Given the description of an element on the screen output the (x, y) to click on. 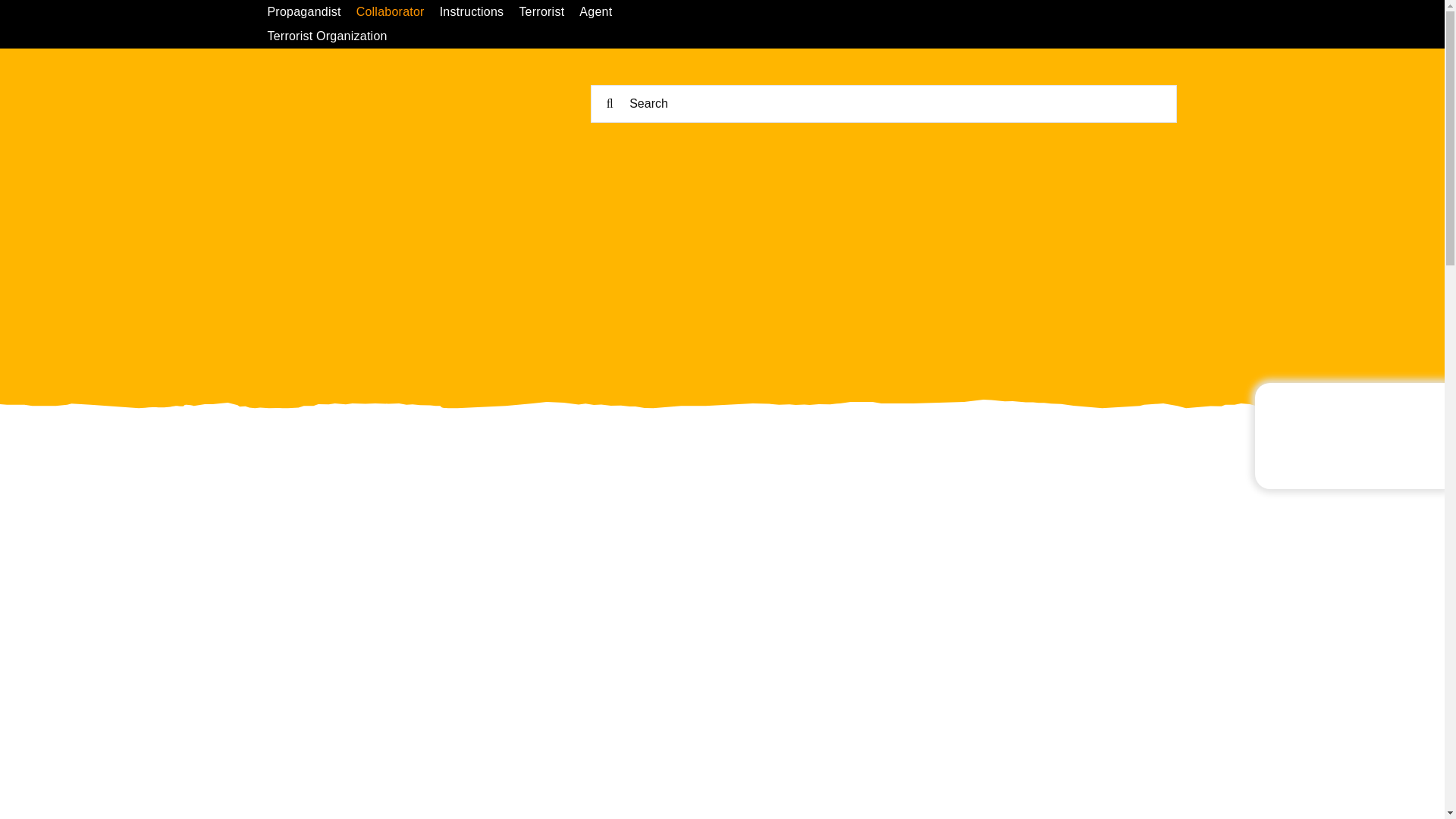
Terrorist (548, 12)
Agent (603, 12)
Terrorist Organization (333, 36)
Collaborator (397, 12)
Instructions (479, 12)
Propagandist (310, 12)
